Given the description of an element on the screen output the (x, y) to click on. 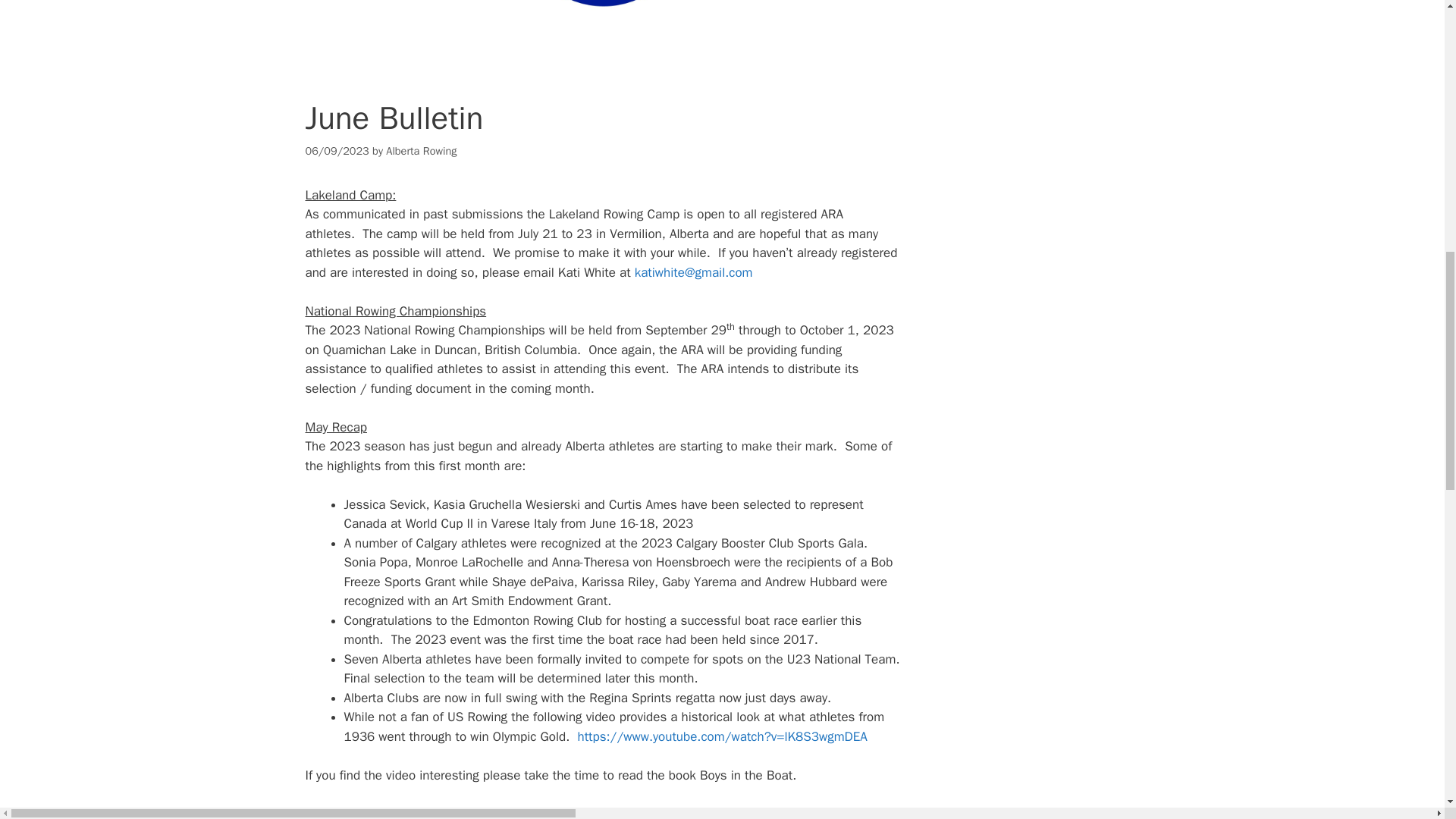
View all posts by Alberta Rowing (421, 151)
